Given the description of an element on the screen output the (x, y) to click on. 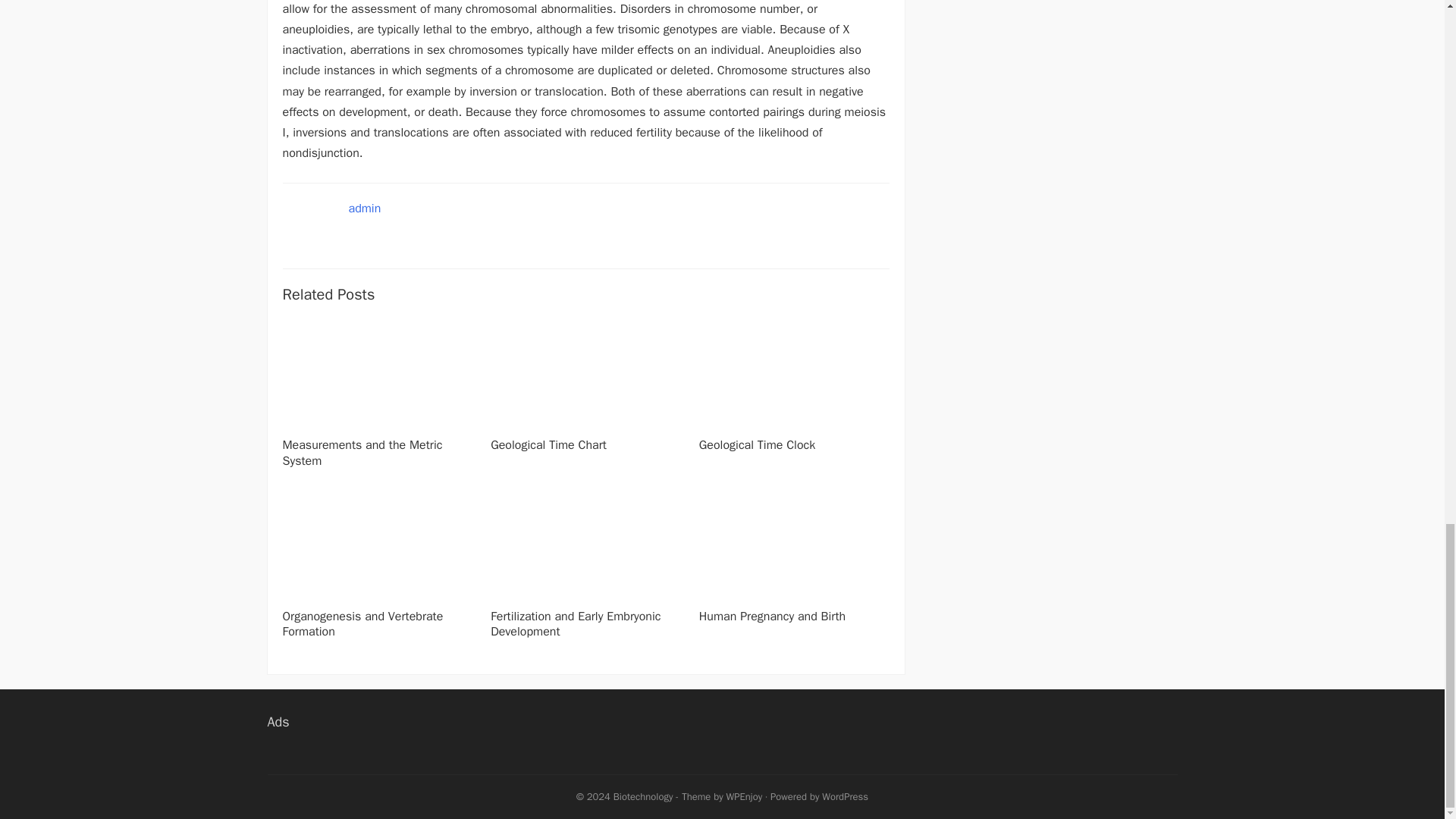
Geological Time Clock (756, 444)
WordPress (844, 796)
admin (365, 208)
Measurements and the Metric System (362, 452)
Organogenesis and Vertebrate Formation (362, 624)
Biotechnology (642, 796)
WPEnjoy (744, 796)
Geological Time Chart (548, 444)
Fertilization and Early Embryonic Development (575, 624)
Human Pregnancy and Birth (771, 616)
